Given the description of an element on the screen output the (x, y) to click on. 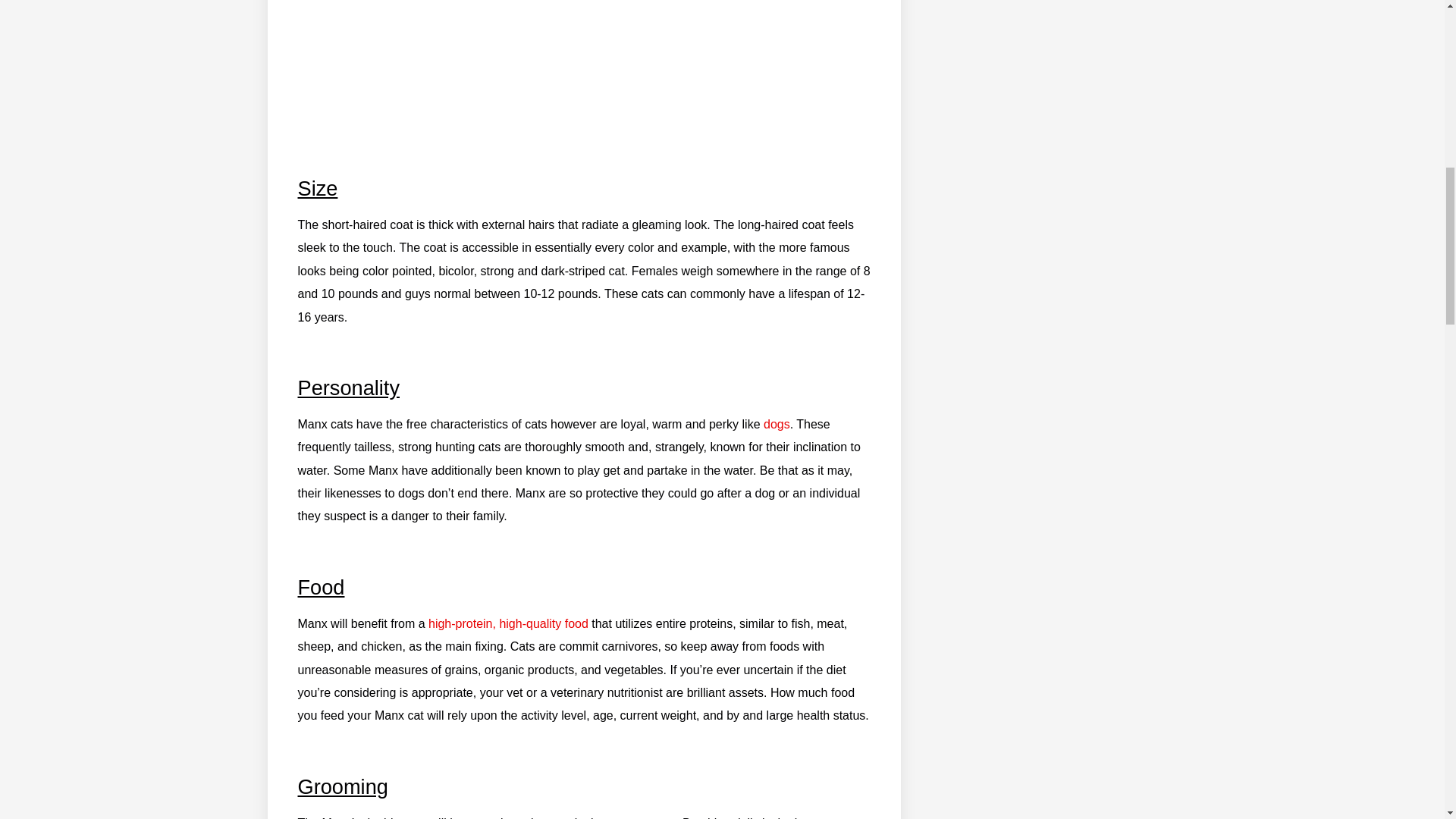
high-protein, high-quality food (508, 623)
Tailless Manx Cat breed (583, 82)
dogs (776, 423)
